Given the description of an element on the screen output the (x, y) to click on. 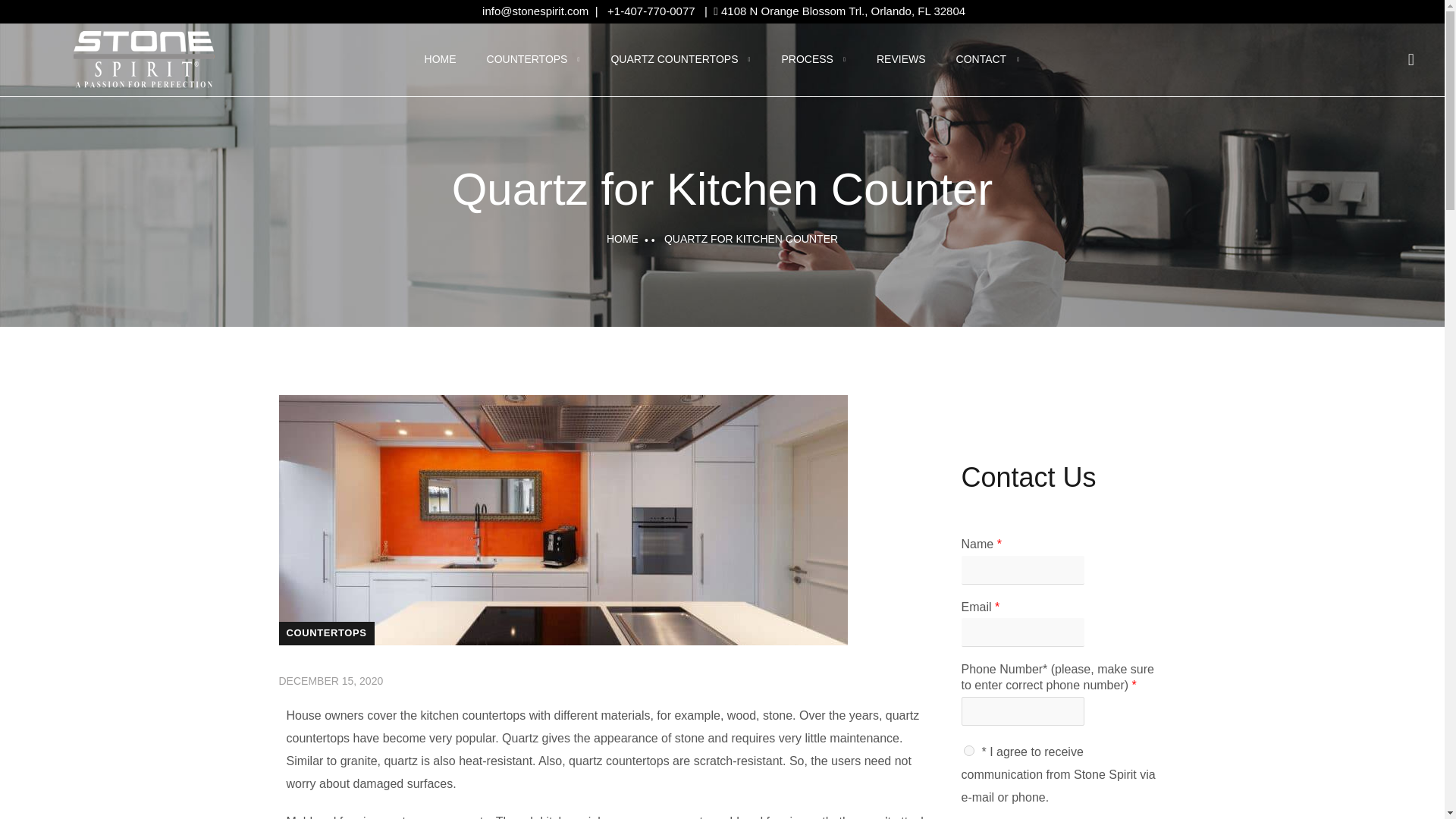
countertops in orlando (533, 58)
countertops orlando (441, 58)
PROCESS (812, 58)
CONTACT (988, 58)
COUNTERTOPS (533, 58)
QUARTZ COUNTERTOPS (680, 58)
countertops reviews (901, 58)
quartz countertops in orlando (680, 58)
REVIEWS (901, 58)
HOME (441, 58)
